Given the description of an element on the screen output the (x, y) to click on. 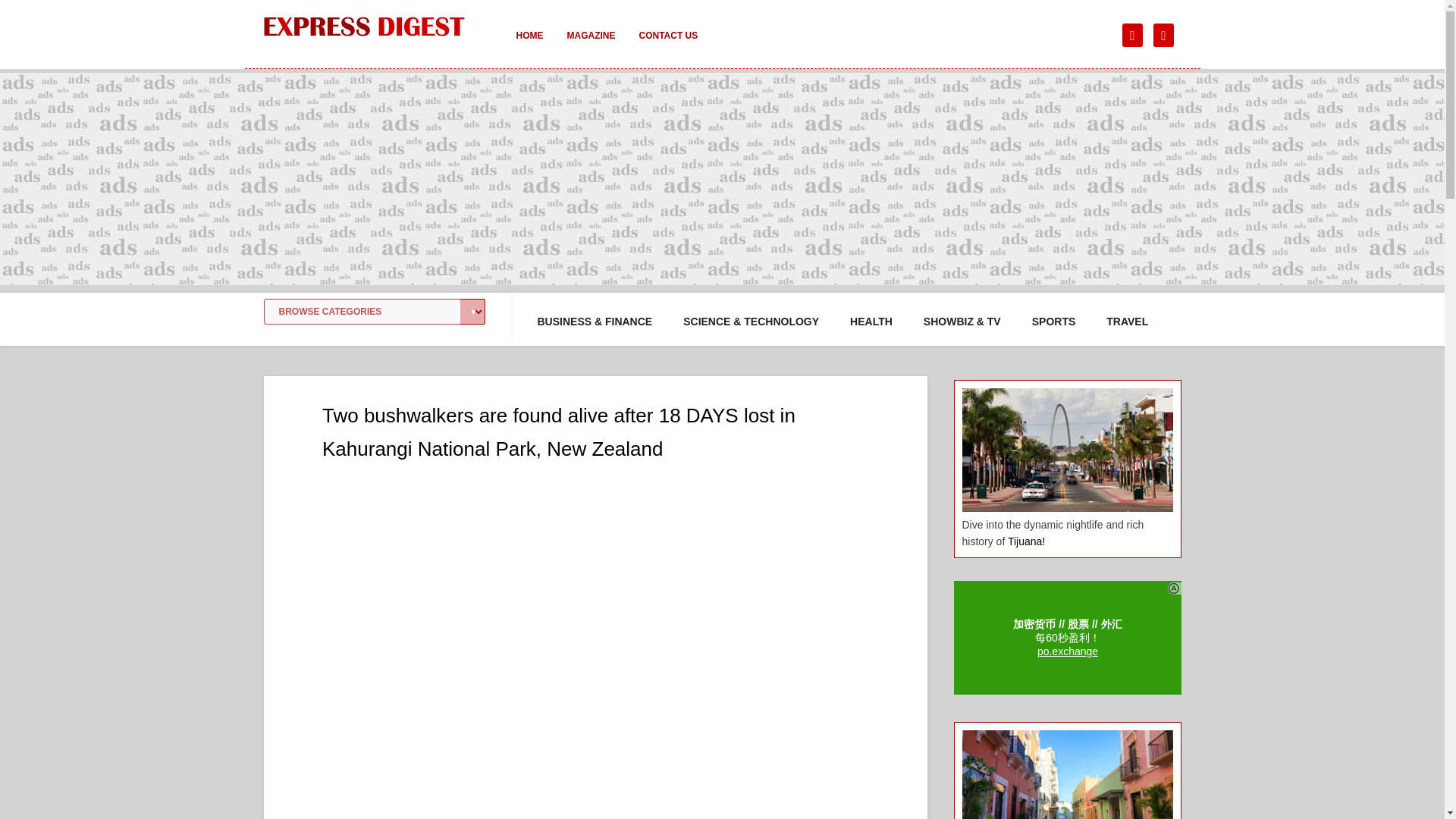
MAGAZINE (590, 45)
Tijuana! (1026, 541)
SPORTS (1053, 321)
CONTACT US (667, 45)
TRAVEL (1127, 321)
HEALTH (871, 321)
